Given the description of an element on the screen output the (x, y) to click on. 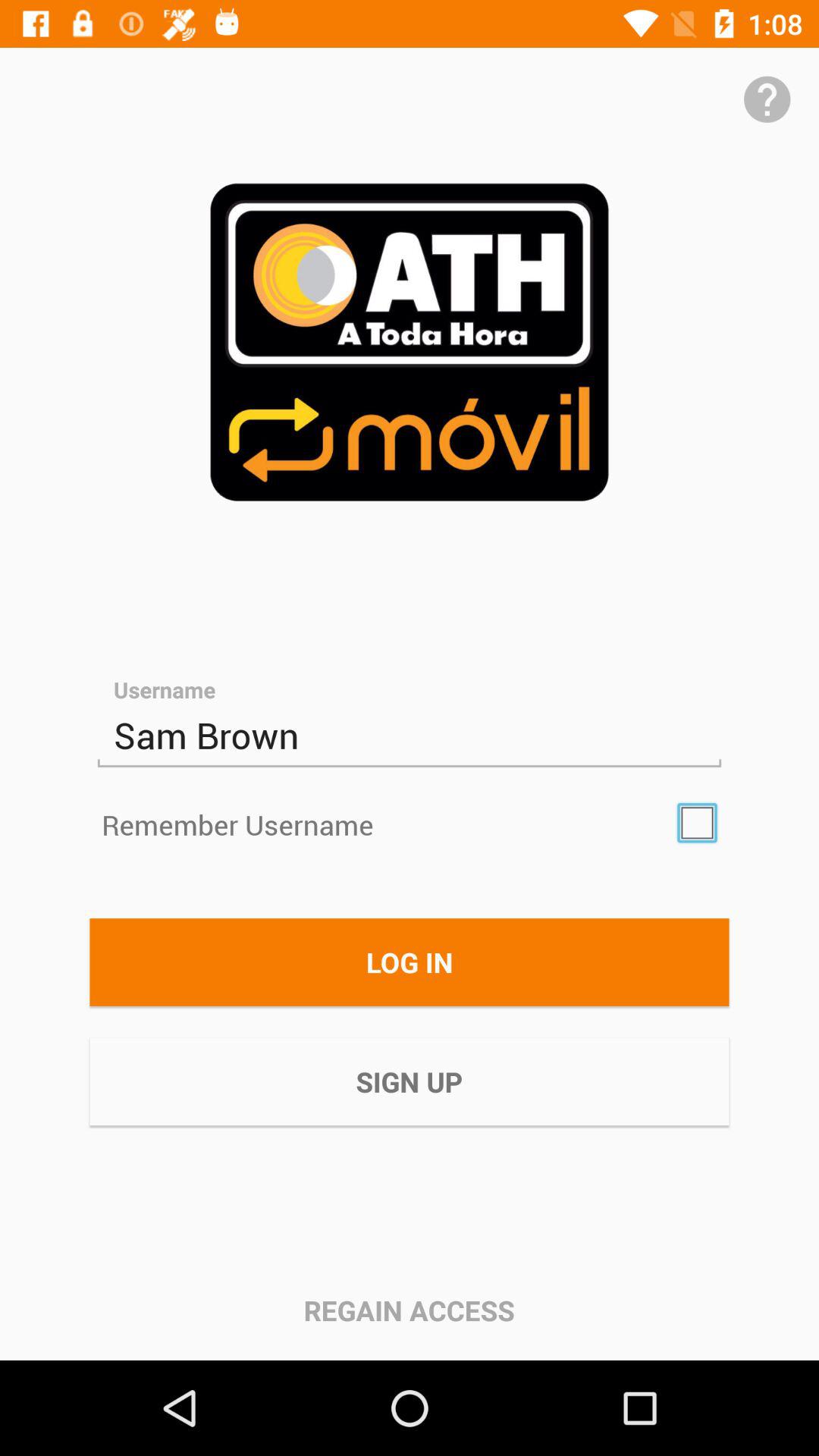
select the icon above log in icon (697, 822)
